Given the description of an element on the screen output the (x, y) to click on. 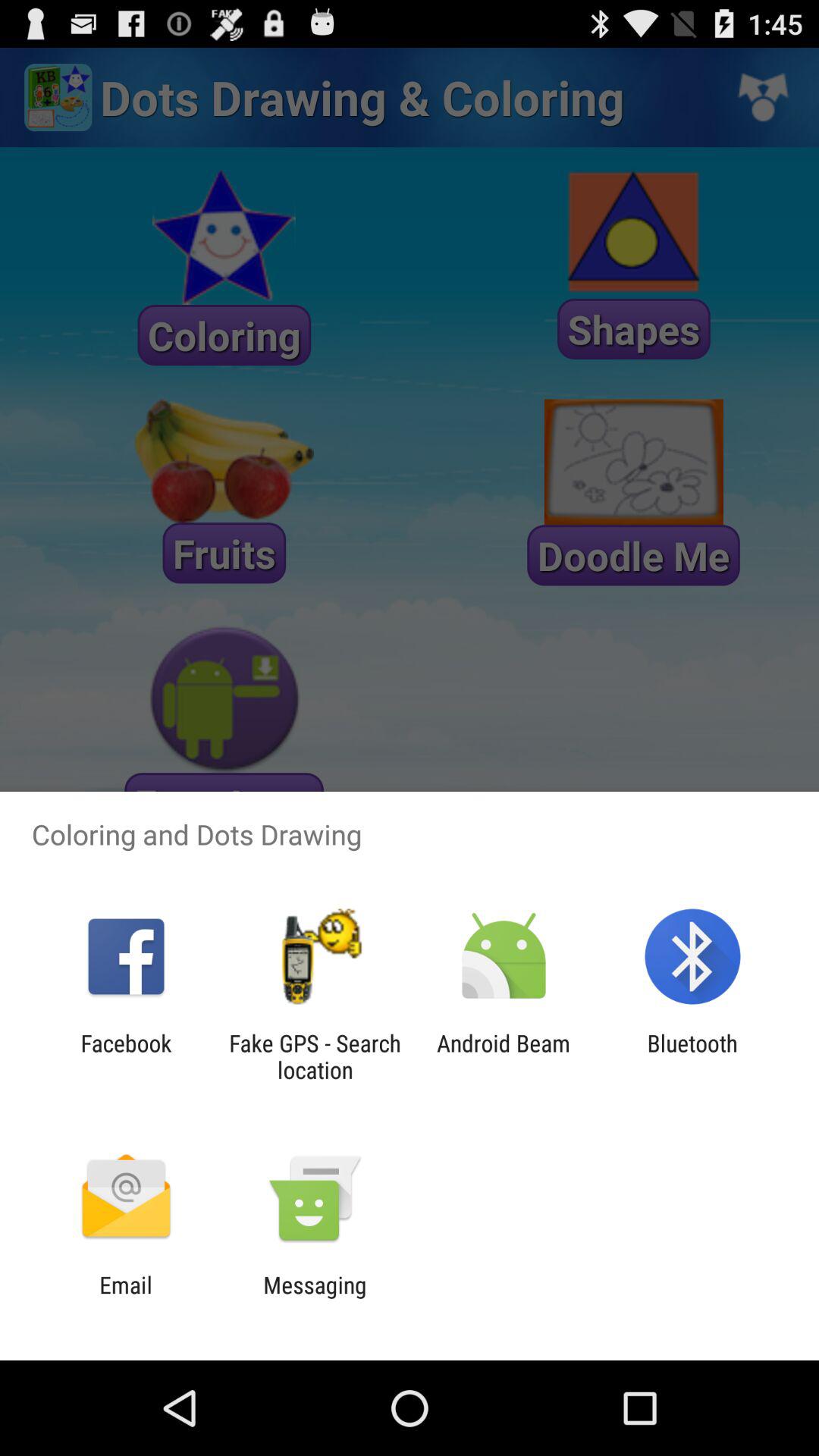
launch item to the left of fake gps search (125, 1056)
